Given the description of an element on the screen output the (x, y) to click on. 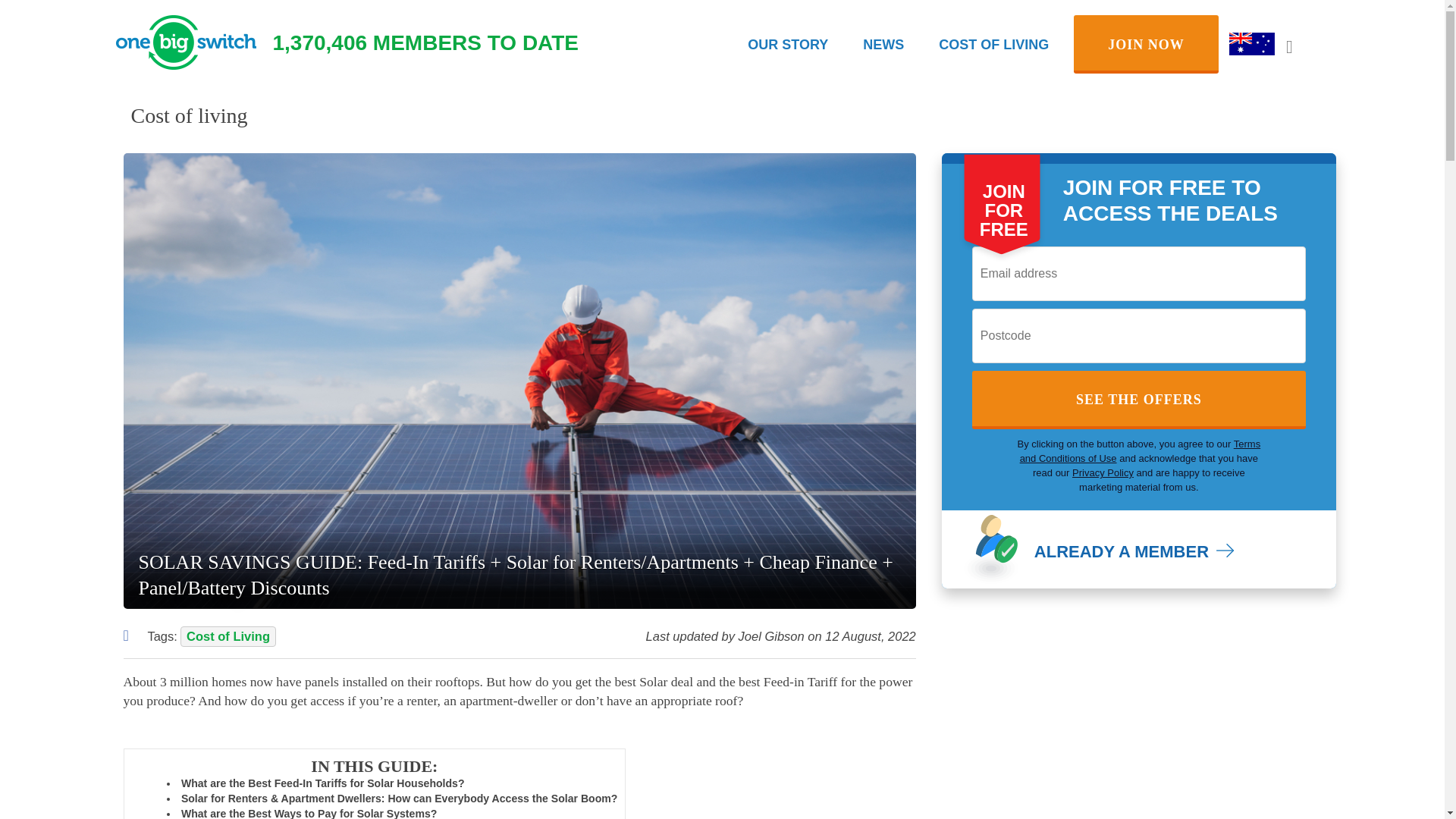
Cost of Living (227, 636)
NEWS (883, 44)
OUR STORY (788, 44)
COST OF LIVING (993, 44)
JOIN NOW (1146, 44)
